Given the description of an element on the screen output the (x, y) to click on. 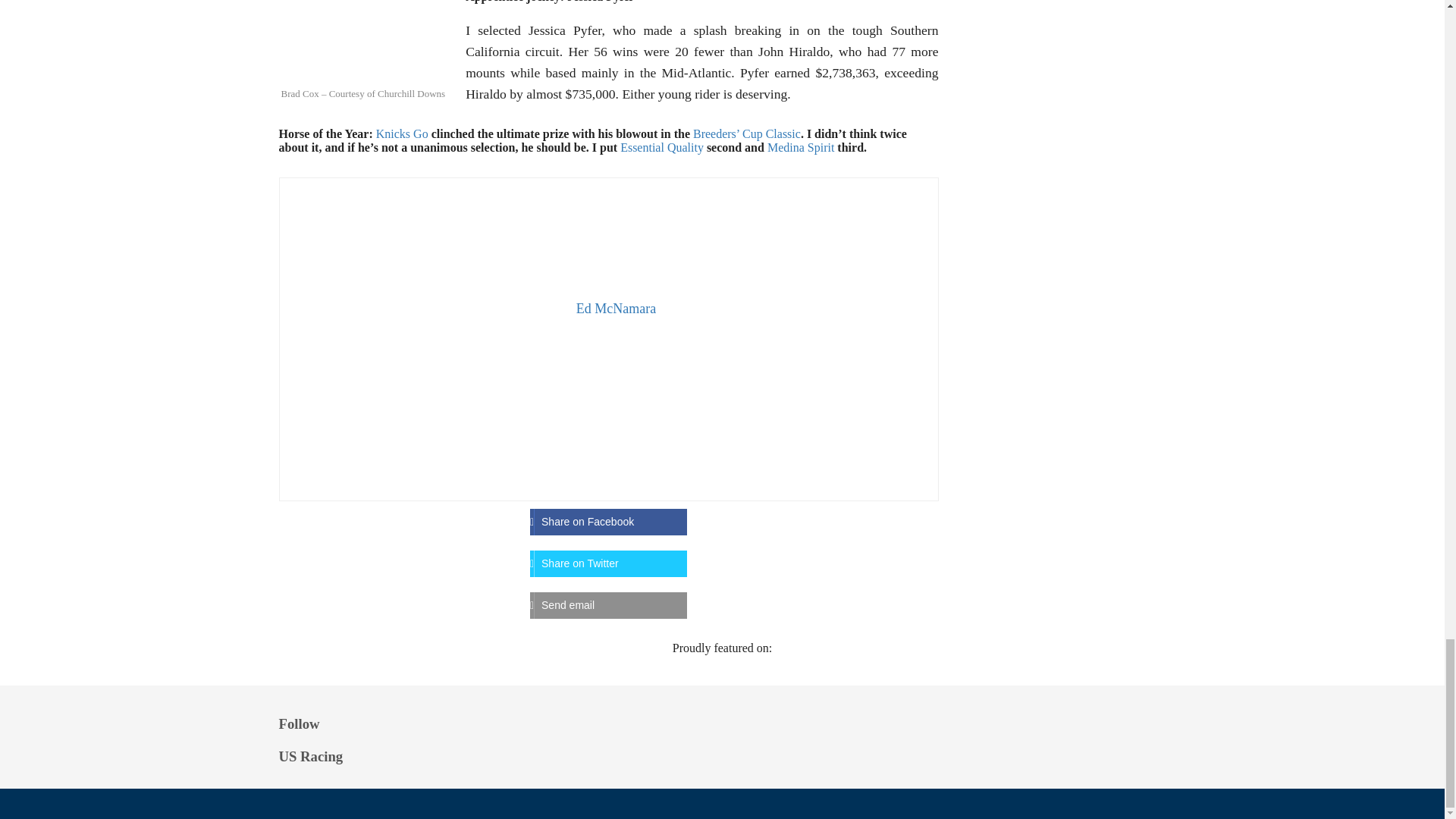
Share on Facebook (608, 521)
Share it on Email (608, 605)
Share on Twitter (608, 563)
